Given the description of an element on the screen output the (x, y) to click on. 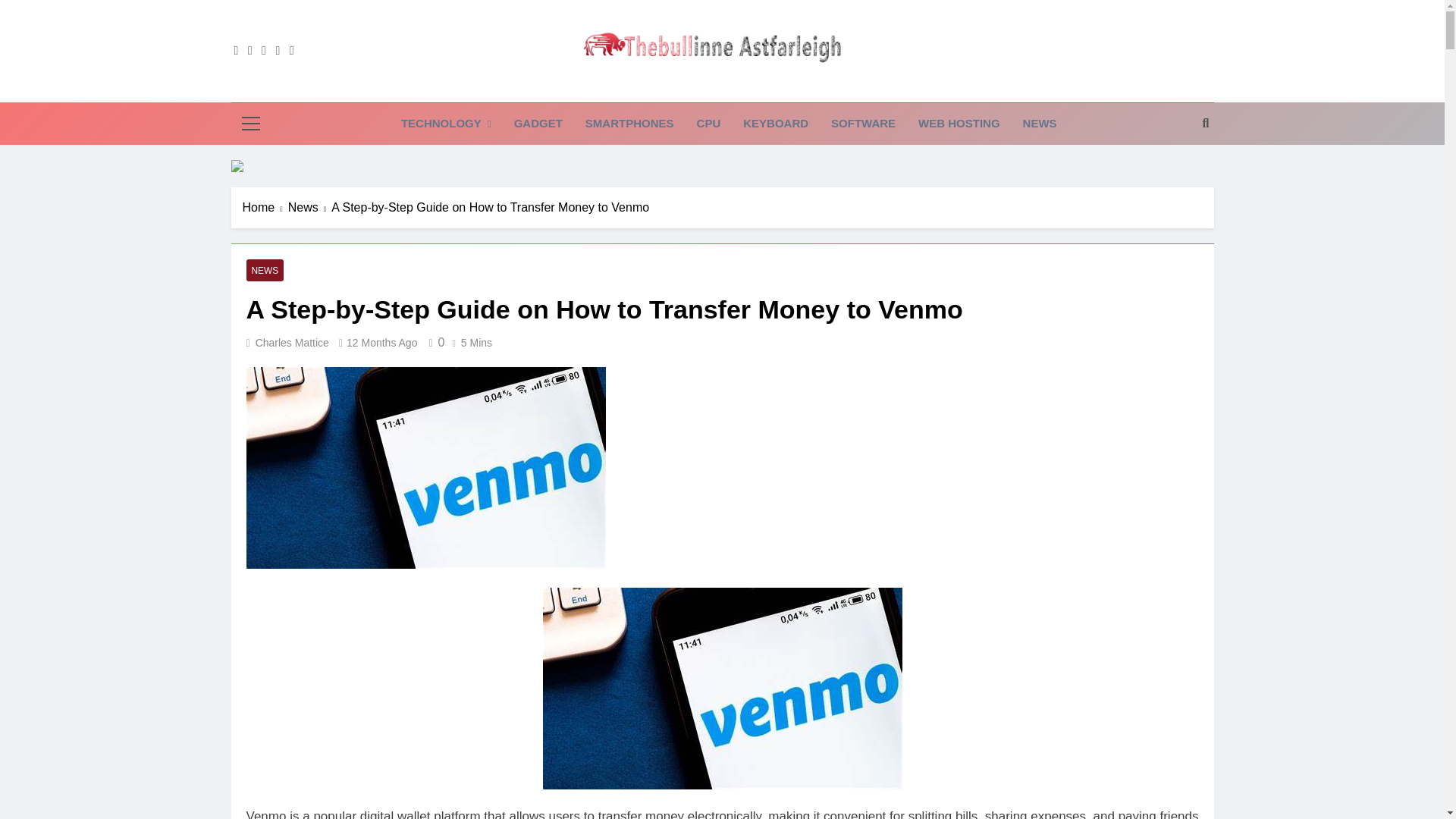
WEB HOSTING (959, 123)
KEYBOARD (775, 123)
SOFTWARE (863, 123)
GADGET (537, 123)
NEWS (1039, 123)
SMARTPHONES (629, 123)
Thebullinne Astfarleigh (653, 88)
TECHNOLOGY (446, 123)
CPU (708, 123)
